Given the description of an element on the screen output the (x, y) to click on. 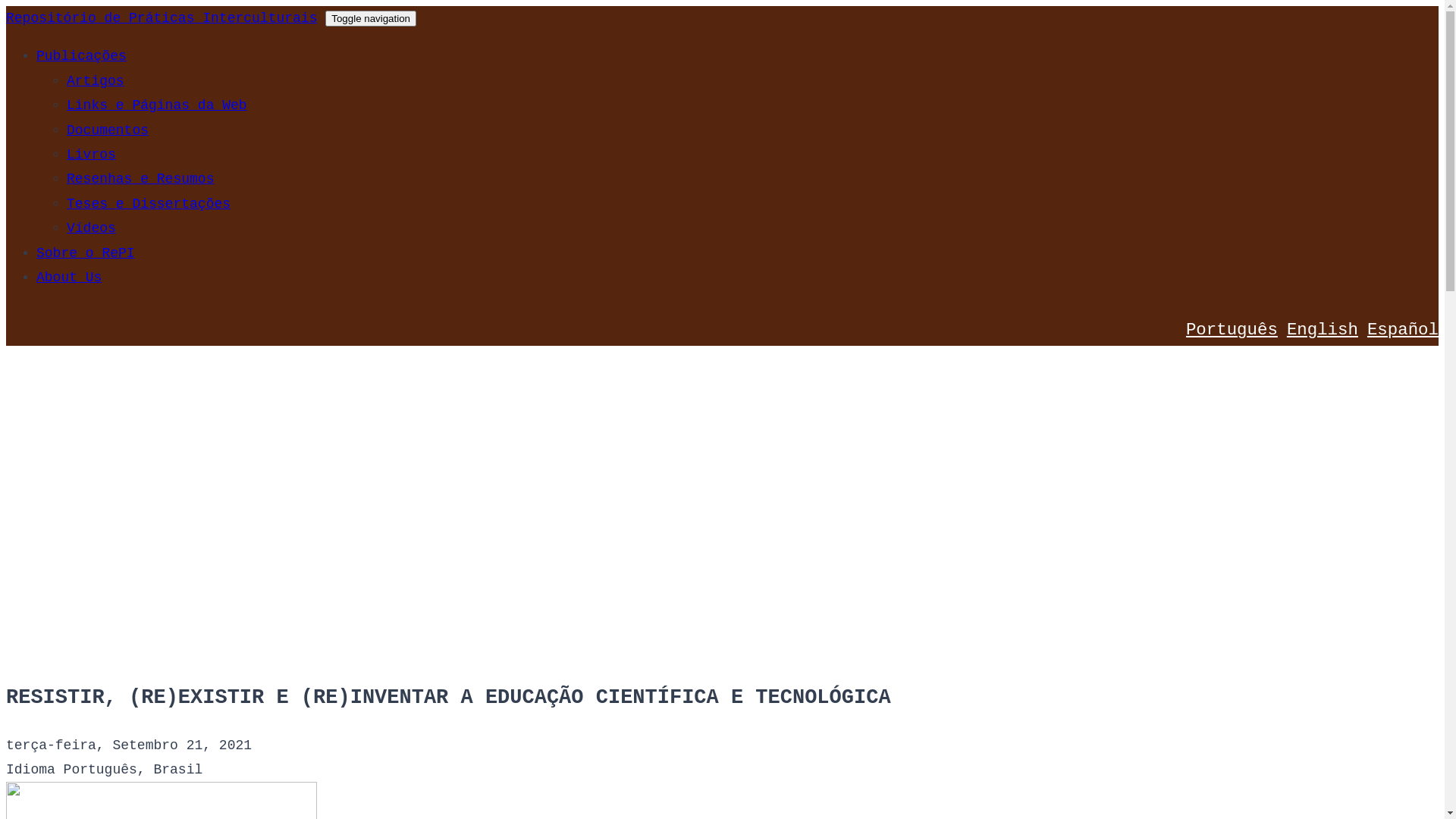
About Us Element type: text (68, 277)
Toggle navigation Element type: text (370, 18)
English Element type: text (1322, 329)
Artigos Element type: text (95, 80)
Documentos Element type: text (107, 130)
Sobre o RePI Element type: text (85, 252)
Livros Element type: text (91, 154)
Resenhas e Resumos Element type: text (139, 178)
